Given the description of an element on the screen output the (x, y) to click on. 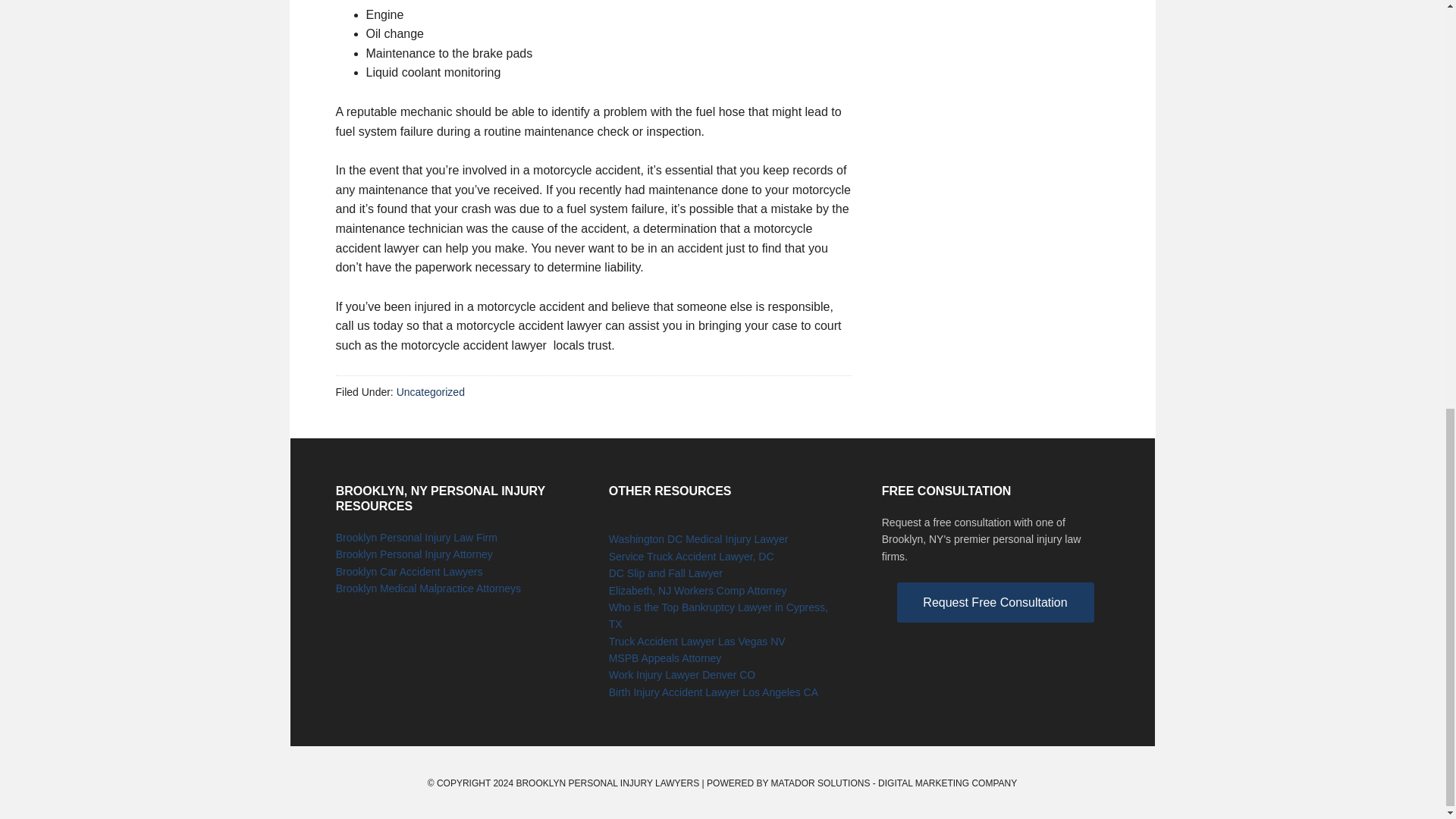
Brooklyn Medical Malpractice Attorneys (428, 588)
Who is the Top Bankruptcy Lawyer in Cypress, TX (718, 615)
DC Slip and Fall Lawyer (665, 573)
Brooklyn Personal Injury Law Firm (416, 537)
Brooklyn Personal Injury Attorney (414, 553)
Request Free Consultation (994, 602)
Work Injury Lawyer Denver CO (681, 674)
Uncategorized (430, 391)
Elizabeth, NJ Workers Comp Attorney (697, 590)
Washington DC Medical Injury Lawyer (698, 539)
Service Truck Accident Lawyer, DC (691, 556)
Birth Injury Accident Lawyer Los Angeles CA (713, 692)
MATADOR SOLUTIONS - DIGITAL MARKETING COMPANY (894, 783)
Brooklyn Car Accident Lawyers (409, 571)
MSPB Appeals Attorney (665, 657)
